Given the description of an element on the screen output the (x, y) to click on. 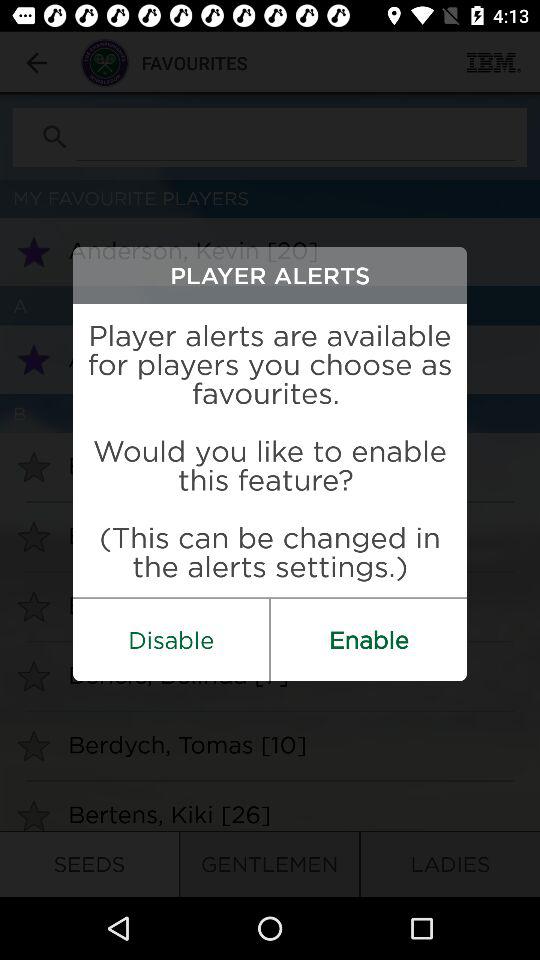
swipe until the disable (171, 639)
